Given the description of an element on the screen output the (x, y) to click on. 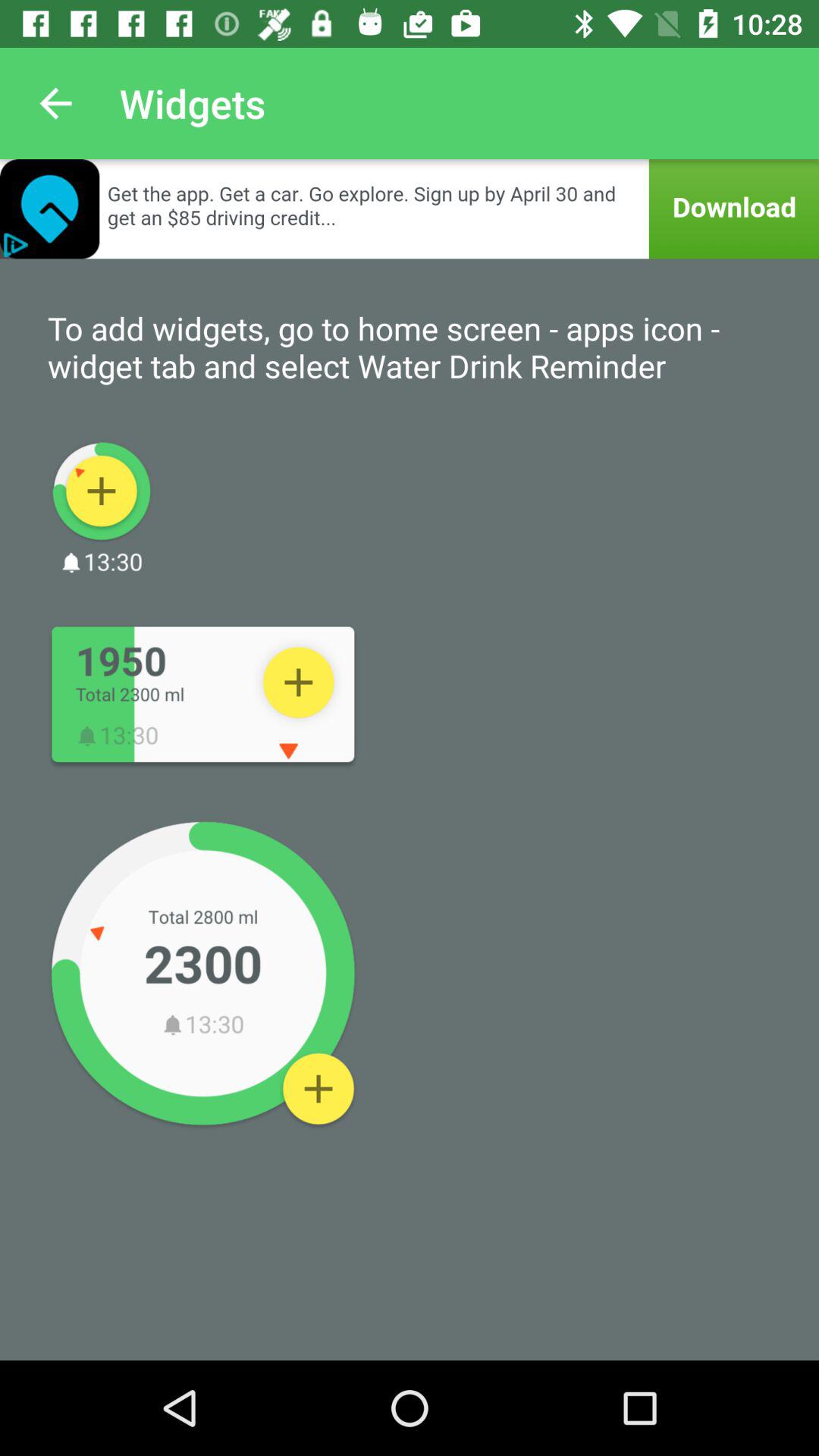
open item to the left of the widgets icon (55, 103)
